Given the description of an element on the screen output the (x, y) to click on. 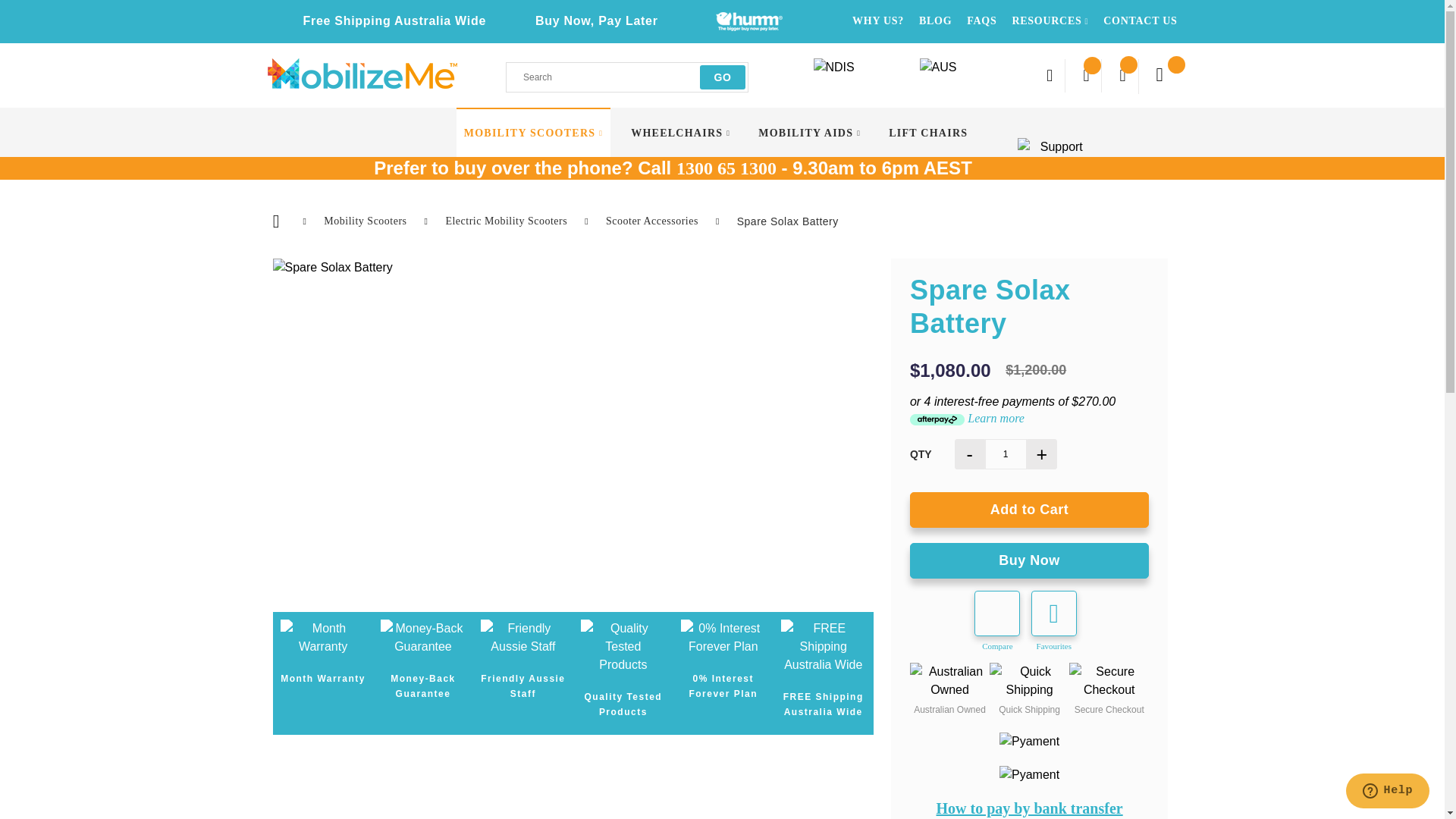
Mobility Scooters Element type: text (366, 220)
Secure Checkout Element type: hover (1108, 680)
NDIS Element type: hover (857, 73)
MOBILITY AIDS Element type: text (809, 132)
AUS Element type: hover (956, 73)
WHY US? Element type: text (877, 21)
BLOG Element type: text (935, 21)
WHEELCHAIRS Element type: text (680, 132)
MobilizeMe Element type: hover (361, 73)
FAQS Element type: text (981, 21)
LIFT CHAIRS Element type: text (927, 132)
Electric Mobility Scooters Element type: text (507, 220)
RESOURCES Element type: text (1049, 21)
Friendly Aussie Staff Element type: hover (522, 637)
CONTACT US Element type: text (1139, 21)
Learn more Element type: text (995, 417)
MOBILITY SCOOTERS Element type: text (533, 132)
How to pay by bank transfer Element type: text (1029, 808)
Payment Element type: hover (1029, 741)
0% Interest Forever Plan Element type: hover (722, 637)
GO Element type: text (722, 77)
Month Warranty Element type: hover (322, 637)
FREE Shipping Australia Wide Element type: hover (823, 646)
Qty Element type: hover (1005, 454)
Money-Back Guarantee Element type: hover (422, 637)
Quality Tested Products Element type: hover (622, 646)
Buy Now Element type: text (1029, 560)
Opens a widget where you can chat to one of our agents Element type: hover (1387, 792)
Support Element type: hover (1055, 153)
Scooter Accessories Element type: text (653, 220)
Spare Solax Battery Element type: hover (572, 267)
+ Element type: text (1041, 454)
Compare Element type: hover (1091, 75)
- Element type: text (969, 454)
1300 65 1300 Element type: text (726, 168)
Go to Home Page Element type: hover (277, 220)
Add to Cart Element type: text (1029, 509)
Payment Element type: hover (1029, 774)
Quick Shipping Element type: hover (1029, 680)
Australian Owned Element type: hover (949, 680)
